Given the description of an element on the screen output the (x, y) to click on. 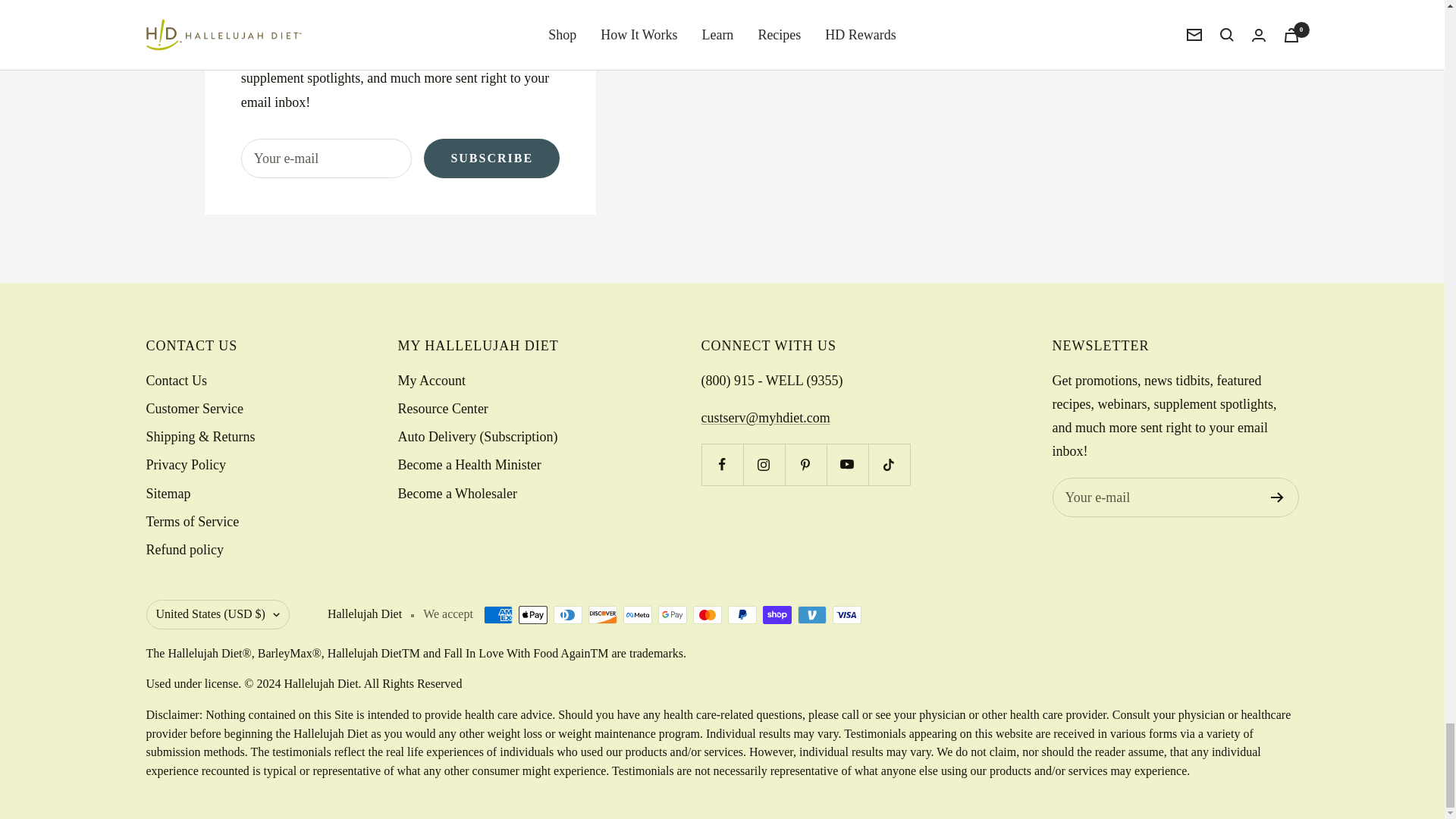
Register (1277, 497)
